Given the description of an element on the screen output the (x, y) to click on. 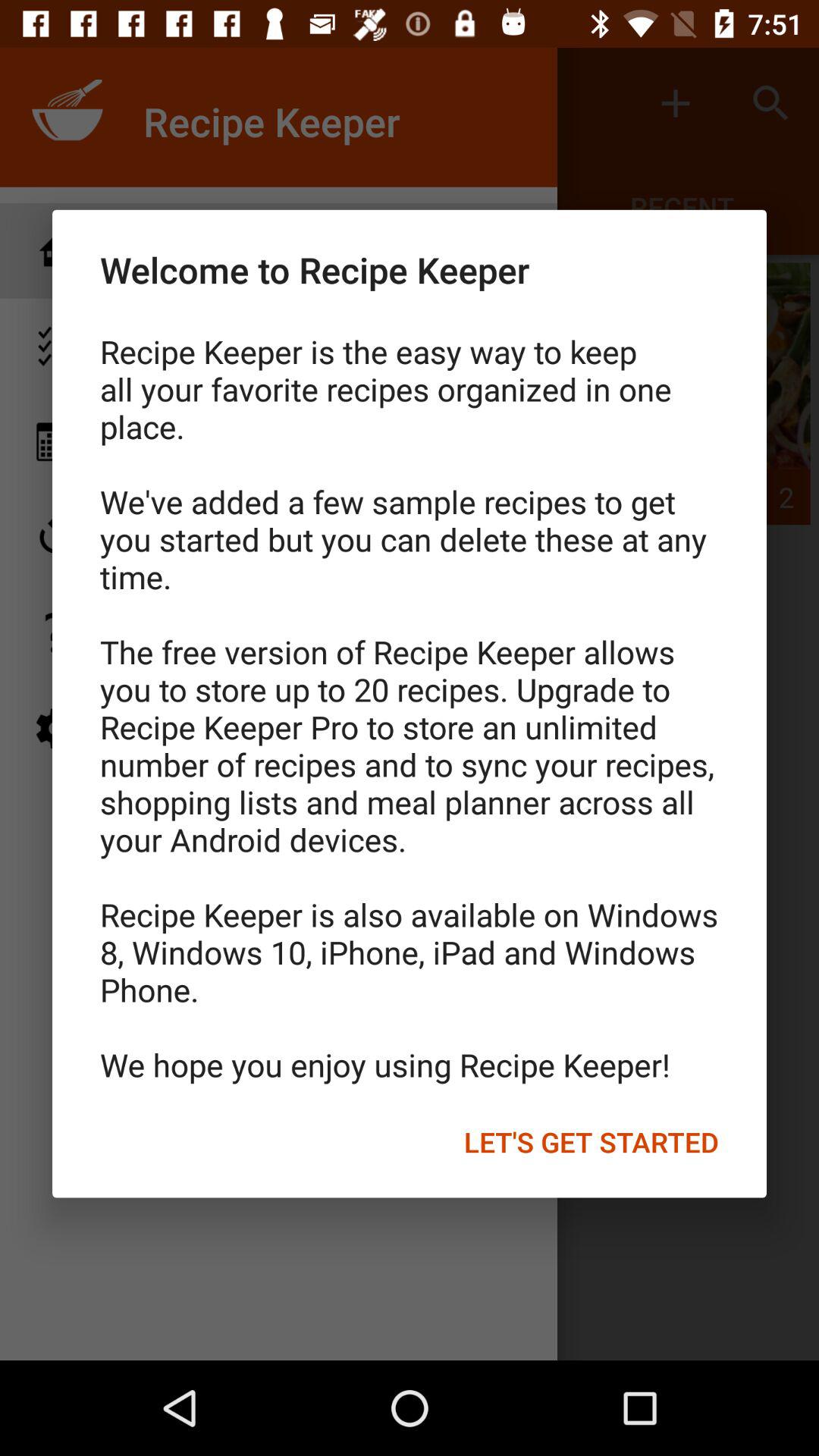
swipe to the let s get item (591, 1141)
